Given the description of an element on the screen output the (x, y) to click on. 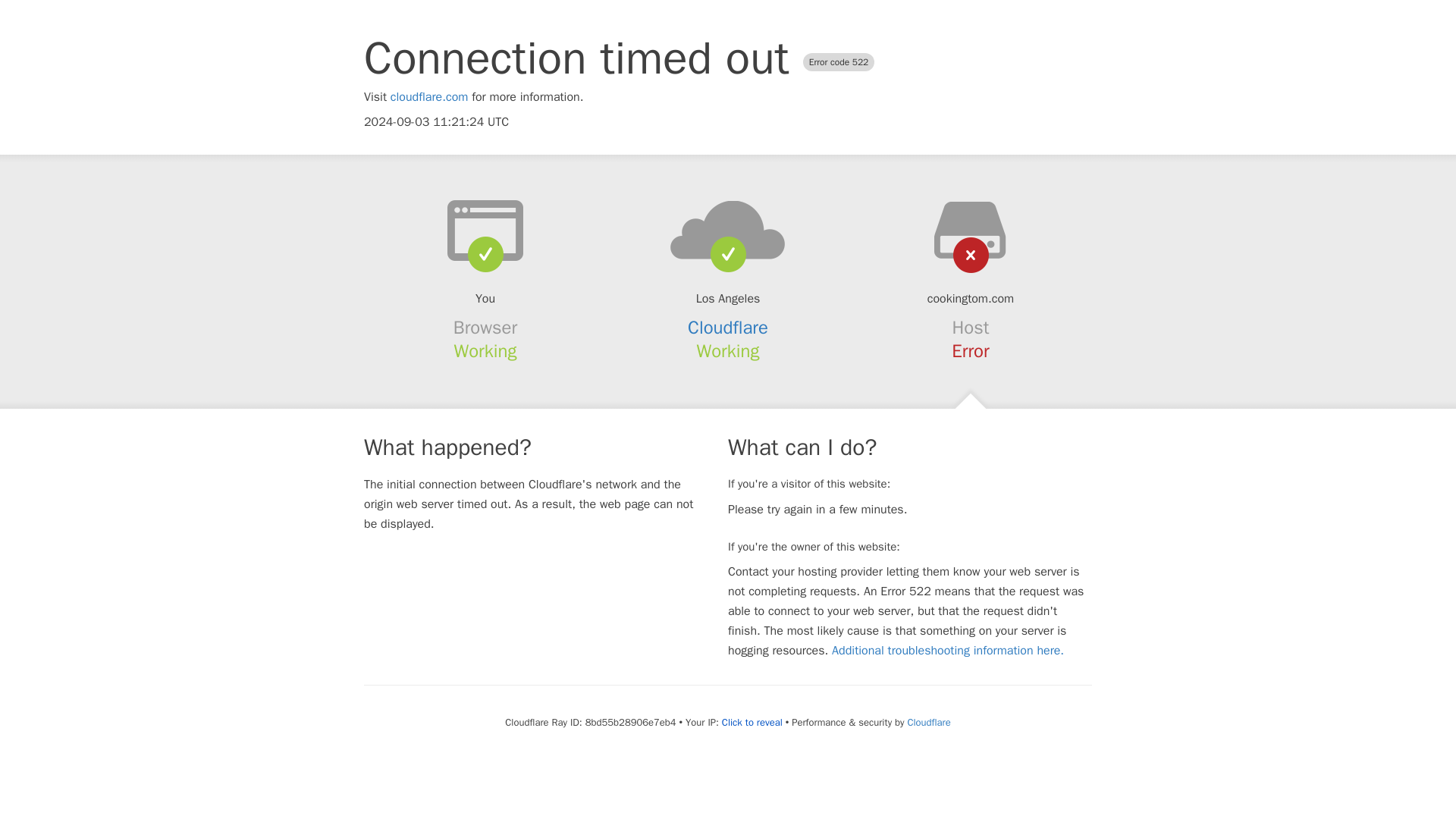
Cloudflare (727, 327)
Additional troubleshooting information here. (947, 650)
Click to reveal (752, 722)
Cloudflare (928, 721)
cloudflare.com (429, 96)
